Given the description of an element on the screen output the (x, y) to click on. 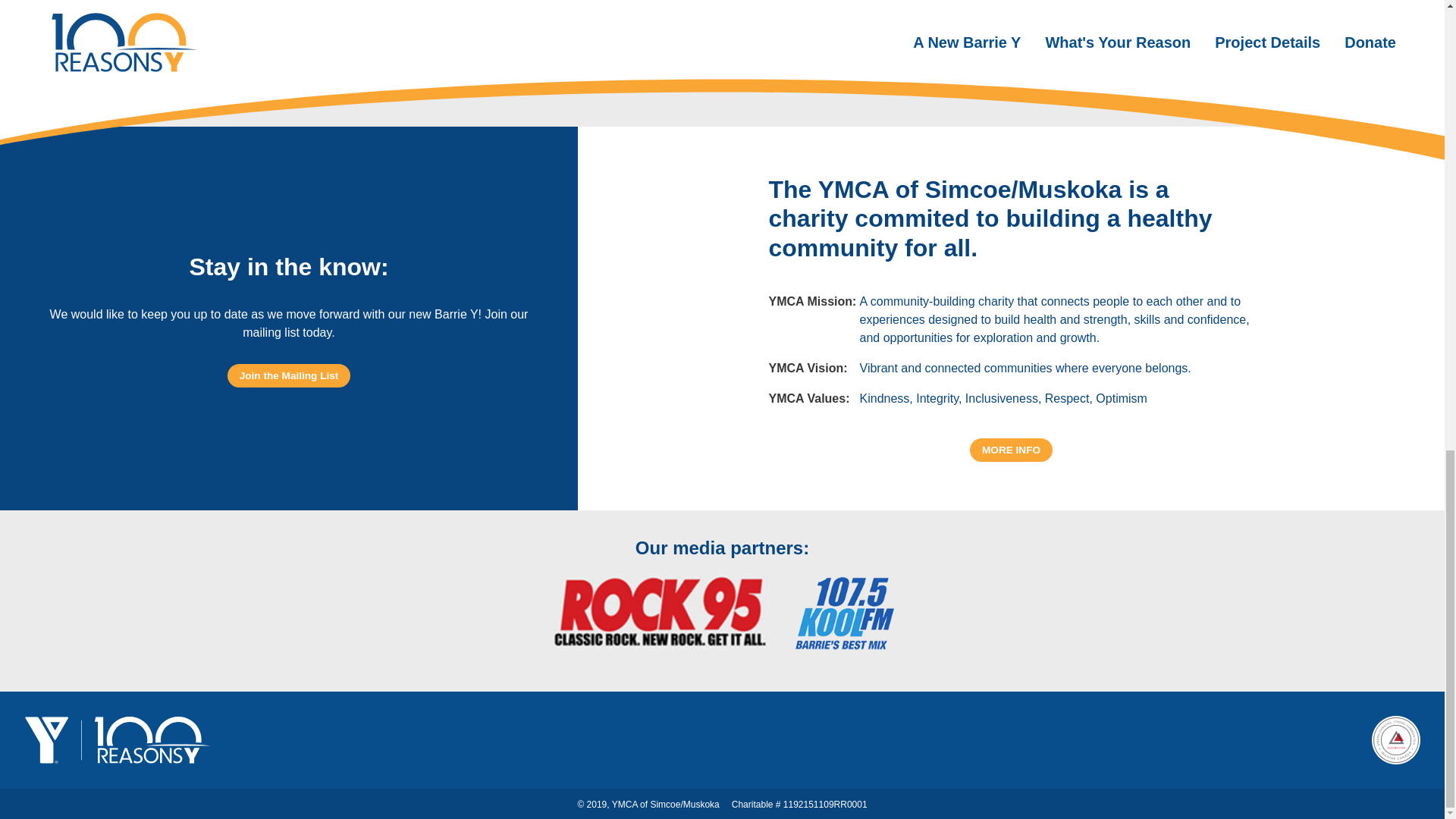
705-717-7022 (264, 59)
MORE INFO (1010, 449)
MORE INFO (1010, 449)
Join the Mailing List (288, 375)
